Given the description of an element on the screen output the (x, y) to click on. 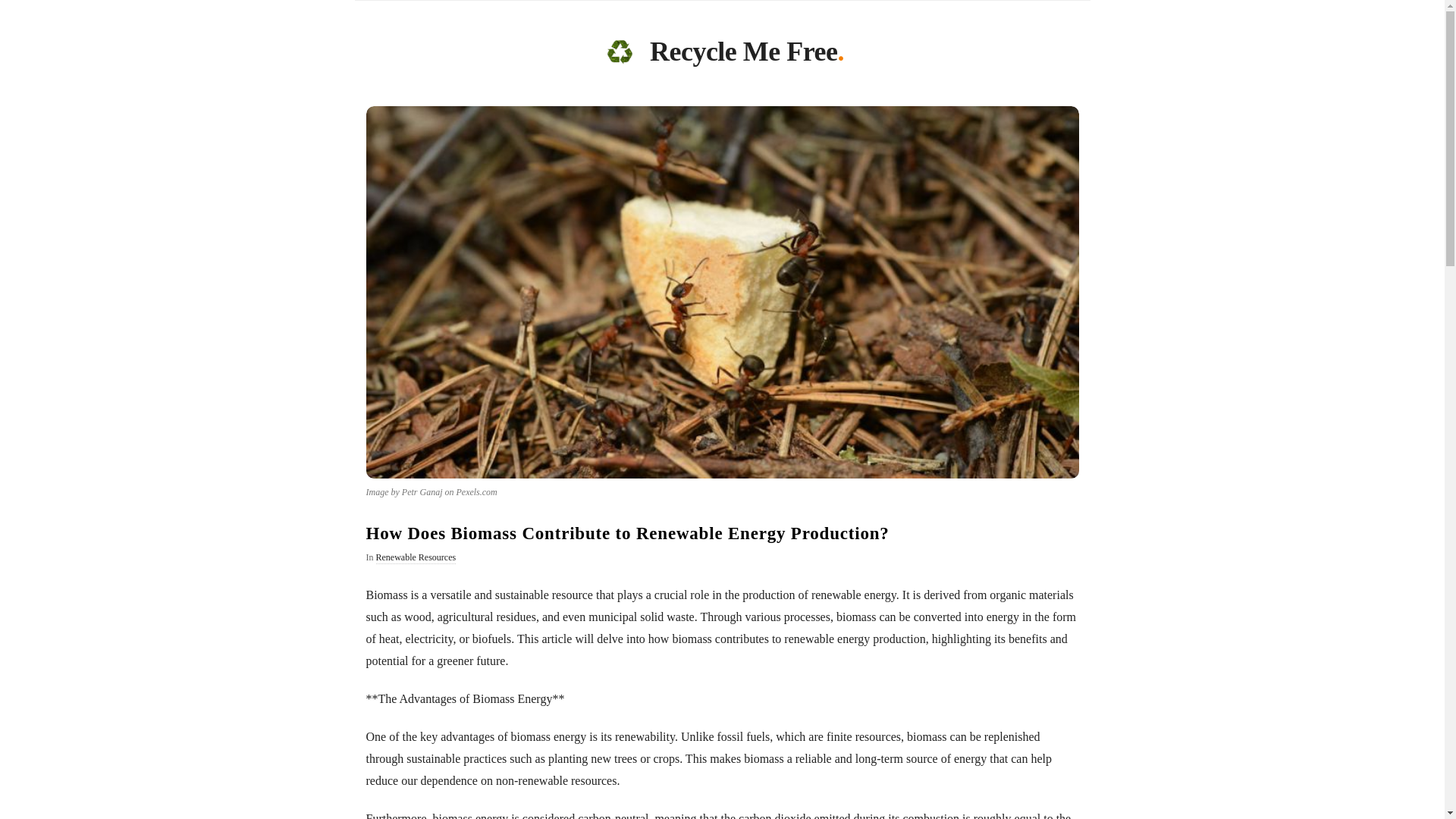
Renewable Resources (416, 558)
Recycle Me Free (619, 51)
Recycle Me Free (743, 55)
Recycle Me Free (743, 55)
